Given the description of an element on the screen output the (x, y) to click on. 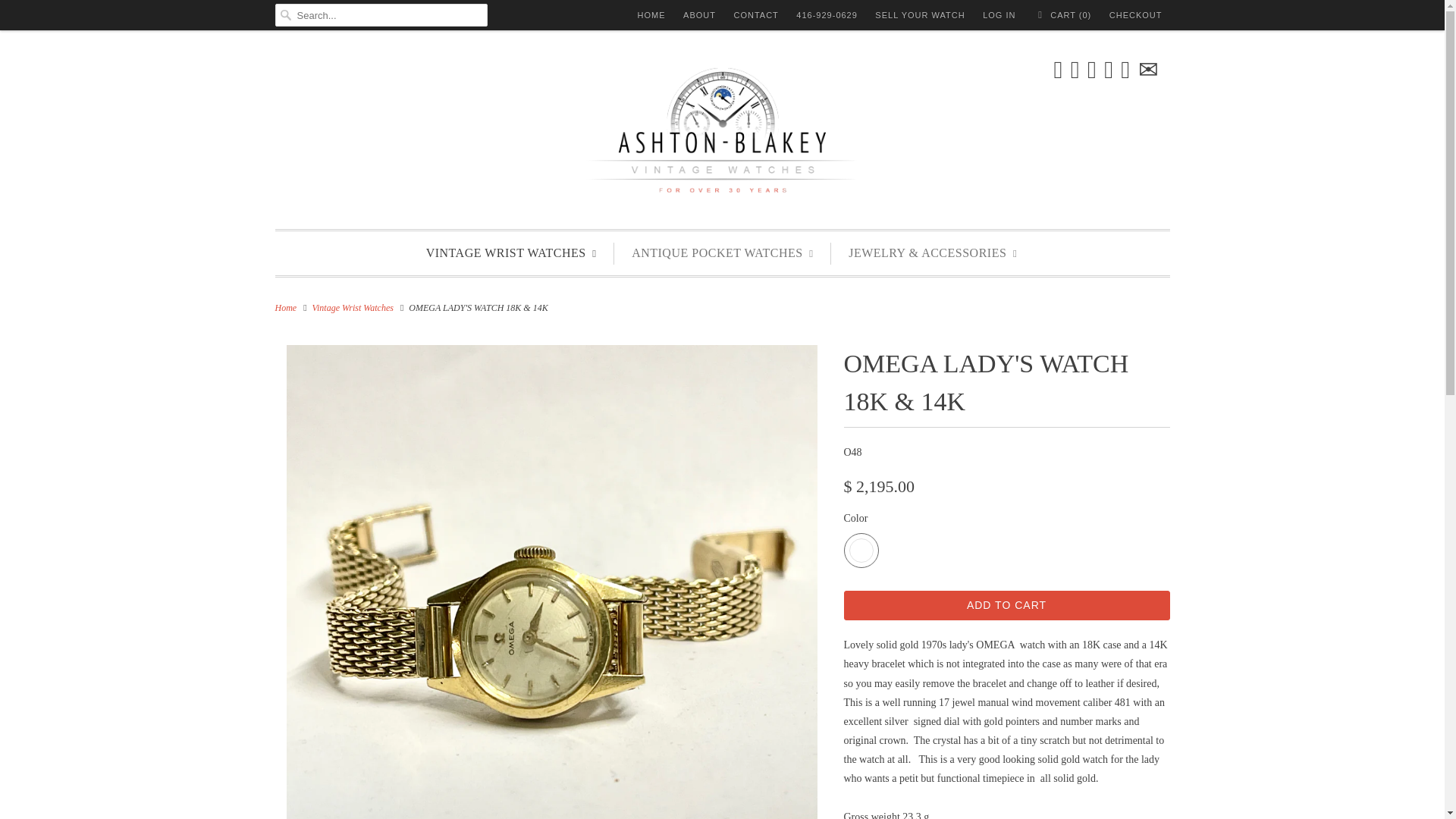
Ashton-Blakey Vintage Watches (722, 133)
ABOUT (699, 15)
416-929-0629 (826, 15)
Ashton-Blakey Vintage Watches (286, 307)
CONTACT (755, 15)
LOG IN (998, 15)
CHECKOUT (1135, 15)
SELL YOUR WATCH (919, 15)
Vintage Wrist Watches (353, 307)
HOME (651, 15)
